Given the description of an element on the screen output the (x, y) to click on. 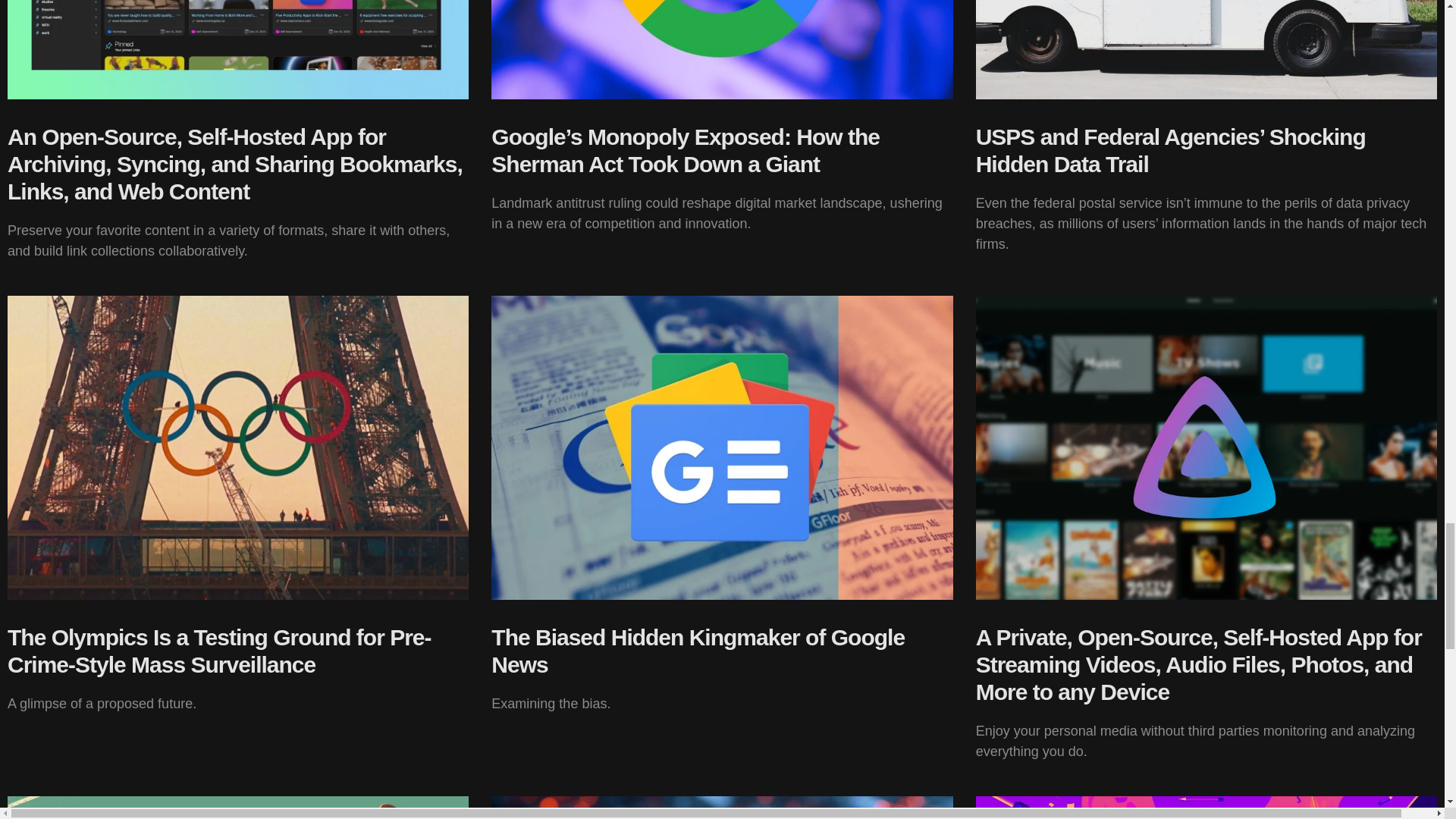
The Biased Hidden Kingmaker of Google News (698, 650)
